Given the description of an element on the screen output the (x, y) to click on. 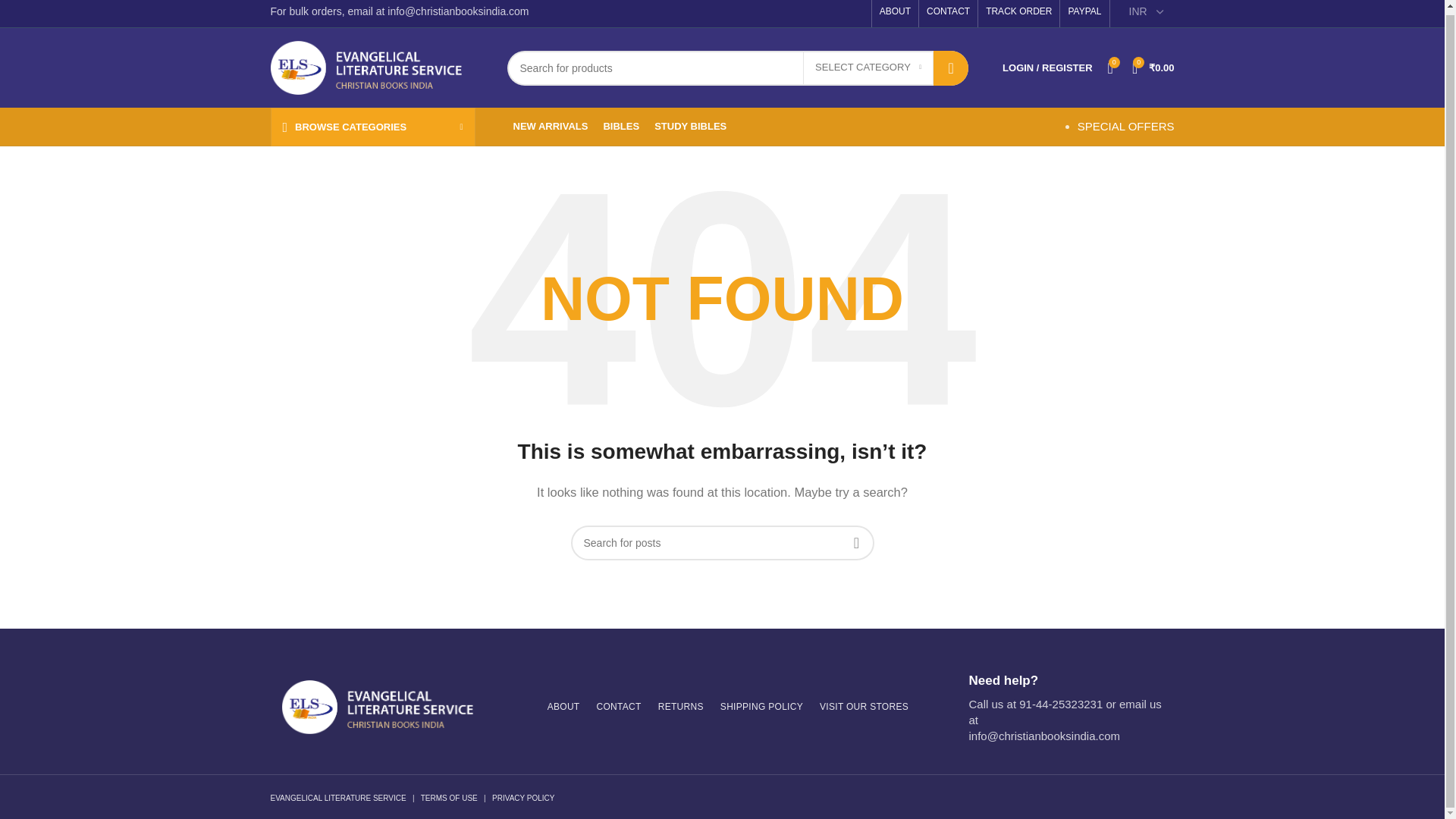
CONTACT (947, 13)
TRACK ORDER (1018, 13)
Search for posts (721, 542)
PAYPAL (1083, 13)
SELECT CATEGORY (868, 68)
My account (1046, 67)
Shopping cart (1153, 67)
Search for products (737, 67)
ABOUT (895, 13)
Currency (1146, 13)
SELECT CATEGORY (868, 68)
